Given the description of an element on the screen output the (x, y) to click on. 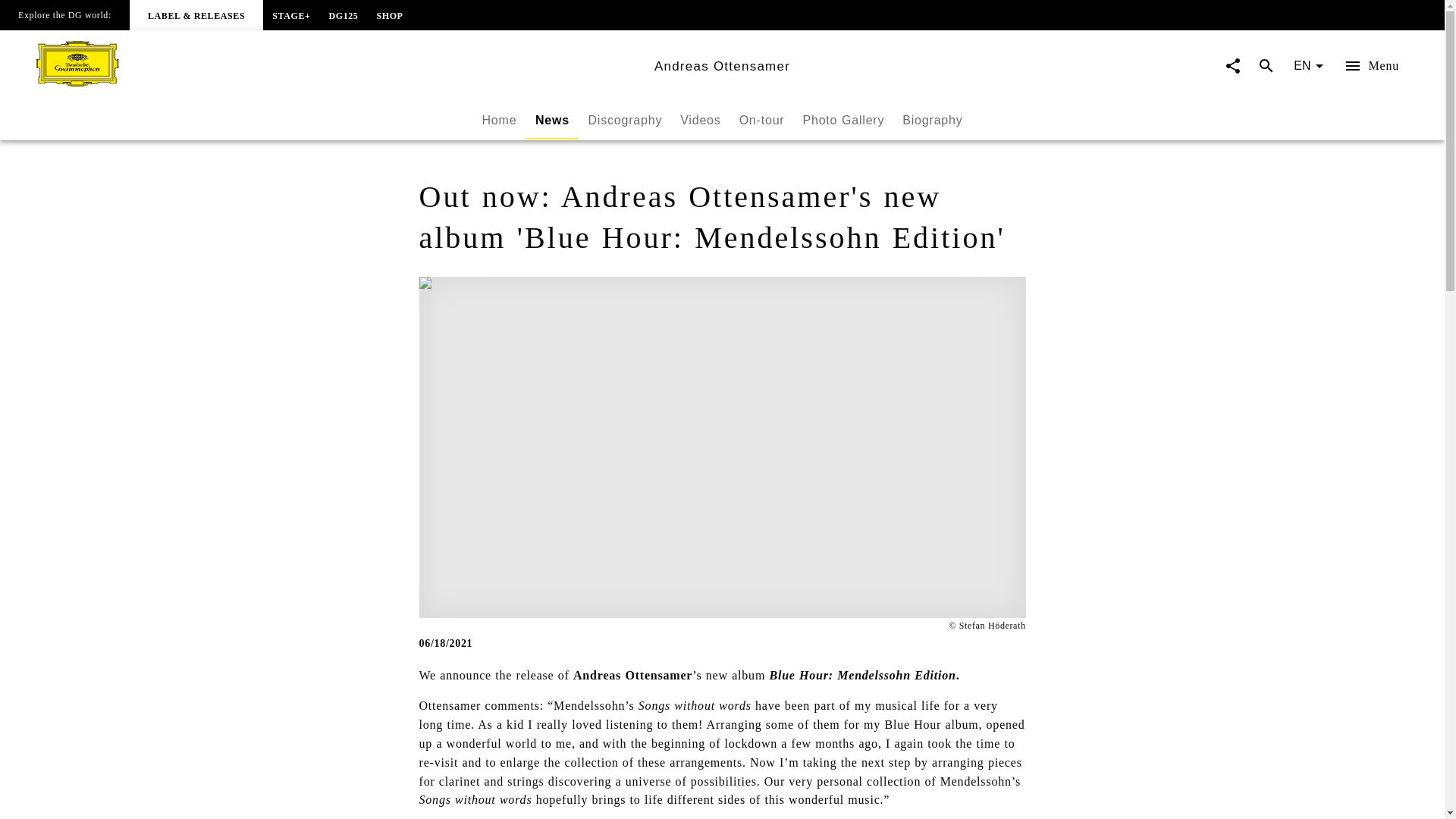
Home (498, 120)
Photo Gallery (843, 120)
SHOP (389, 13)
News (551, 120)
Videos (700, 120)
Discography (624, 120)
DG125 (342, 13)
Menu (1371, 65)
On-tour (721, 121)
